Given the description of an element on the screen output the (x, y) to click on. 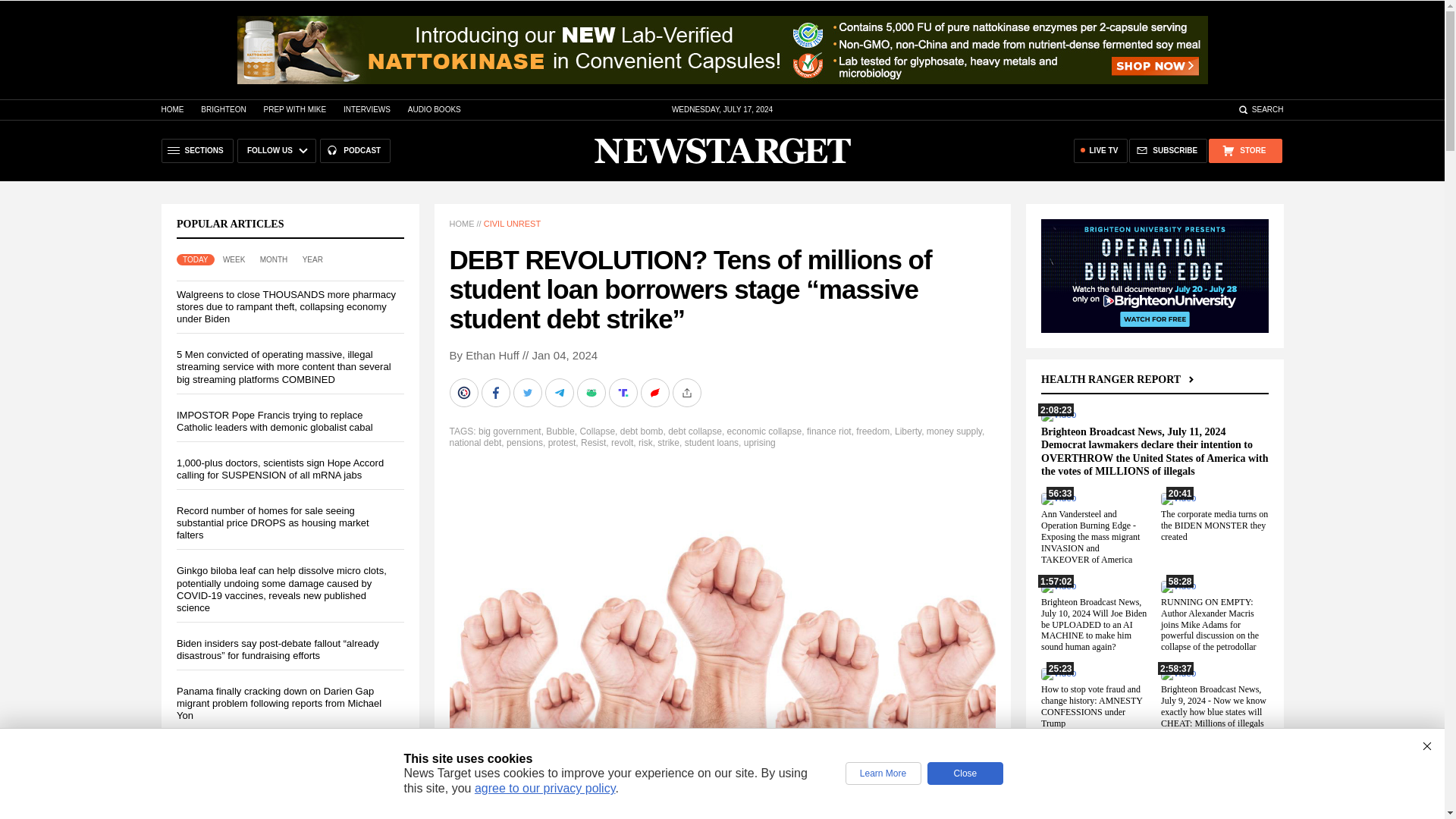
Share on Telegram (560, 392)
AUDIO BOOKS (434, 109)
PREP WITH MIKE (294, 109)
Share on Gettr (655, 392)
Share on Truth.Social (624, 392)
Share on GAB (592, 392)
HOME (171, 109)
Share on Twitter (528, 392)
PODCAST (355, 150)
Share on Facebook (496, 392)
